Given the description of an element on the screen output the (x, y) to click on. 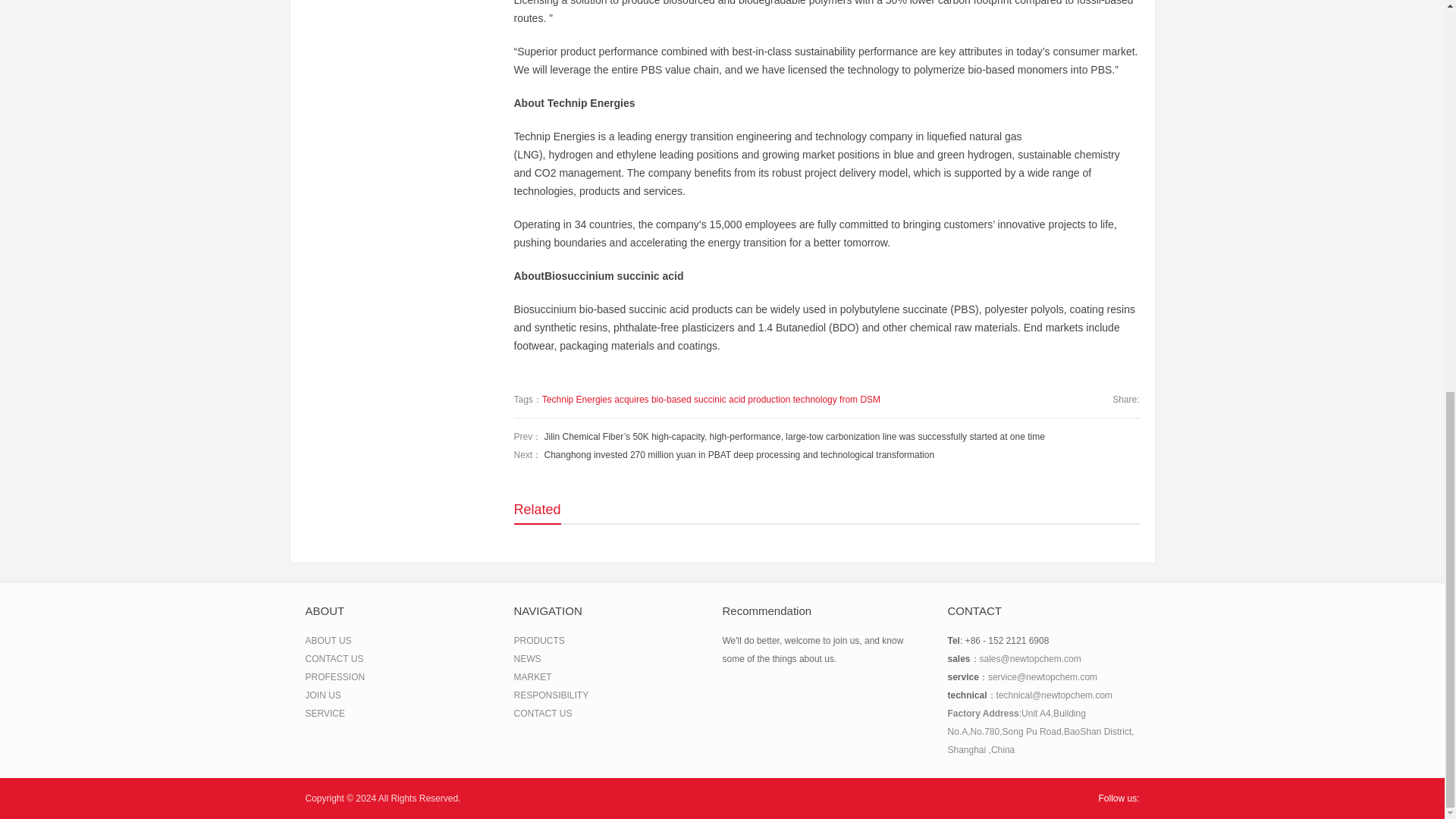
MARKET (532, 676)
SERVICE (323, 713)
JOIN US (322, 695)
CONTACT US (542, 713)
CONTACT US (333, 658)
ABOUT US (327, 640)
PRODUCTS (538, 640)
RESPONSIBILITY (551, 695)
PROFESSION (334, 676)
NEWS (527, 658)
